Given the description of an element on the screen output the (x, y) to click on. 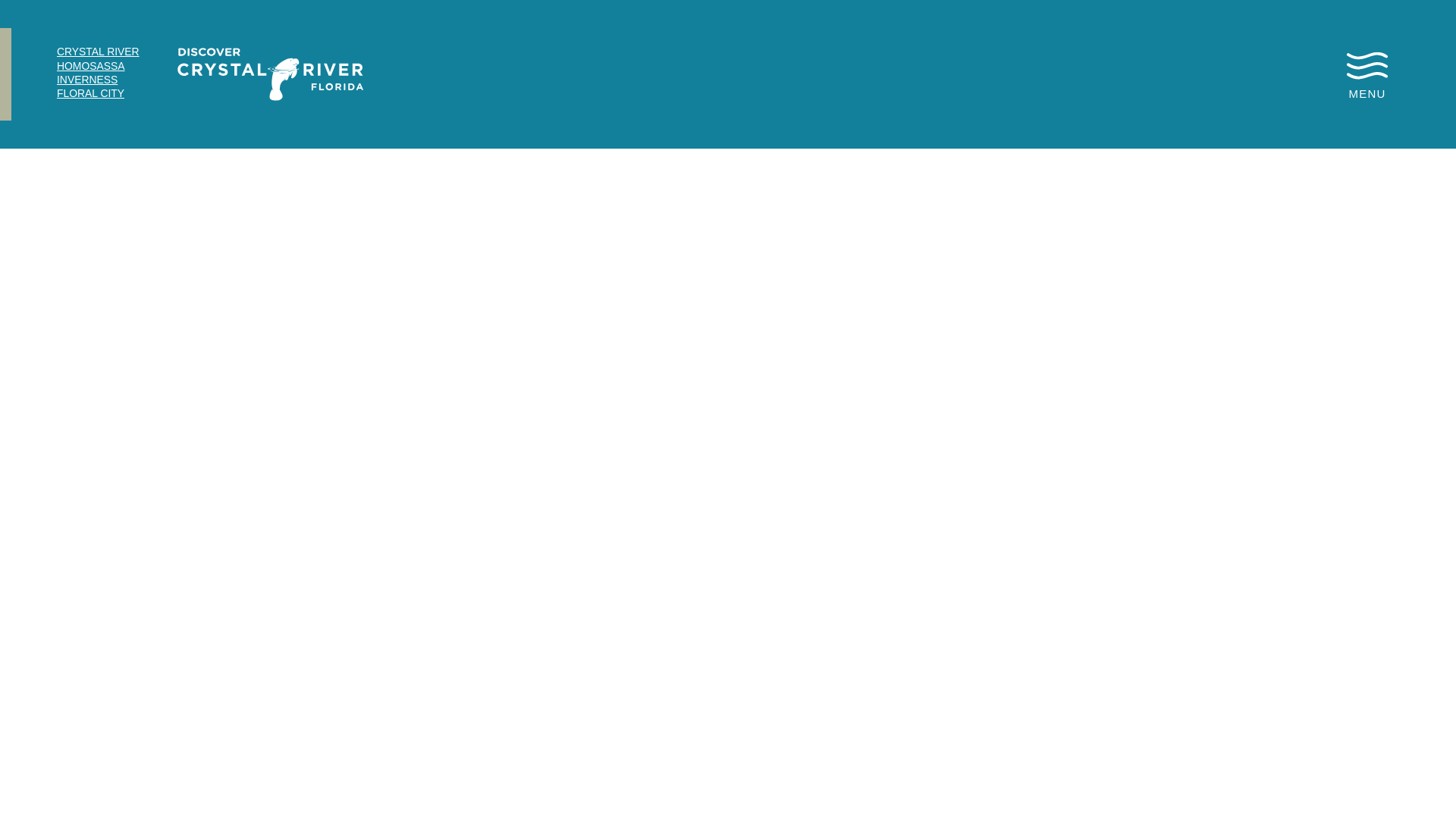
CRYSTAL RIVER (97, 51)
FLORAL CITY (89, 93)
HOMOSASSA (90, 65)
Live River Cam (1090, 74)
INVERNESS (86, 79)
